Given the description of an element on the screen output the (x, y) to click on. 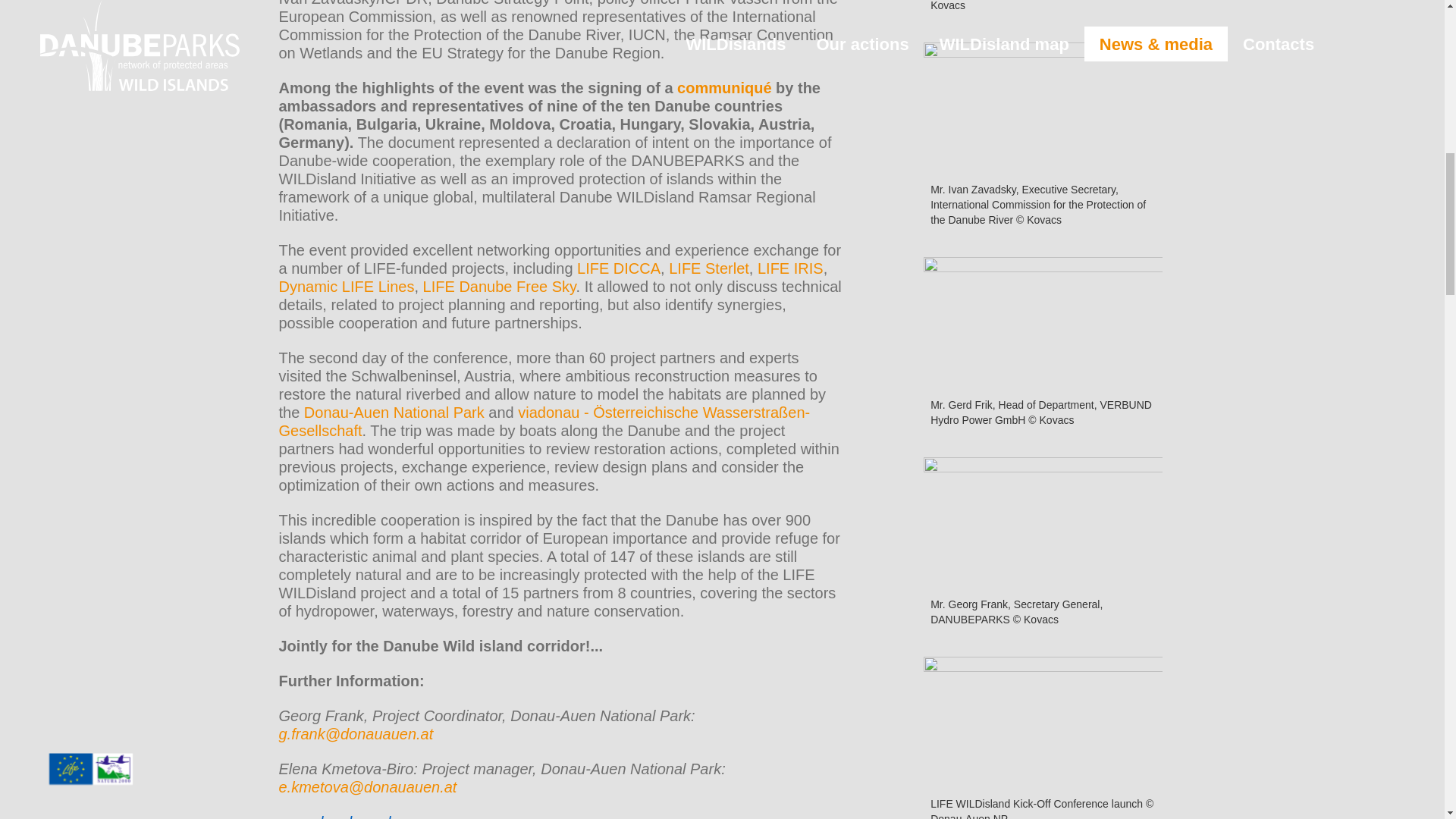
Donau-Auen National Park (394, 412)
Dynamic LIFE Lines (346, 286)
LIFE Danube Free Sky (499, 286)
LIFE DICCA (618, 268)
LIFE IRIS (790, 268)
LIFE Sterlet (708, 268)
